Given the description of an element on the screen output the (x, y) to click on. 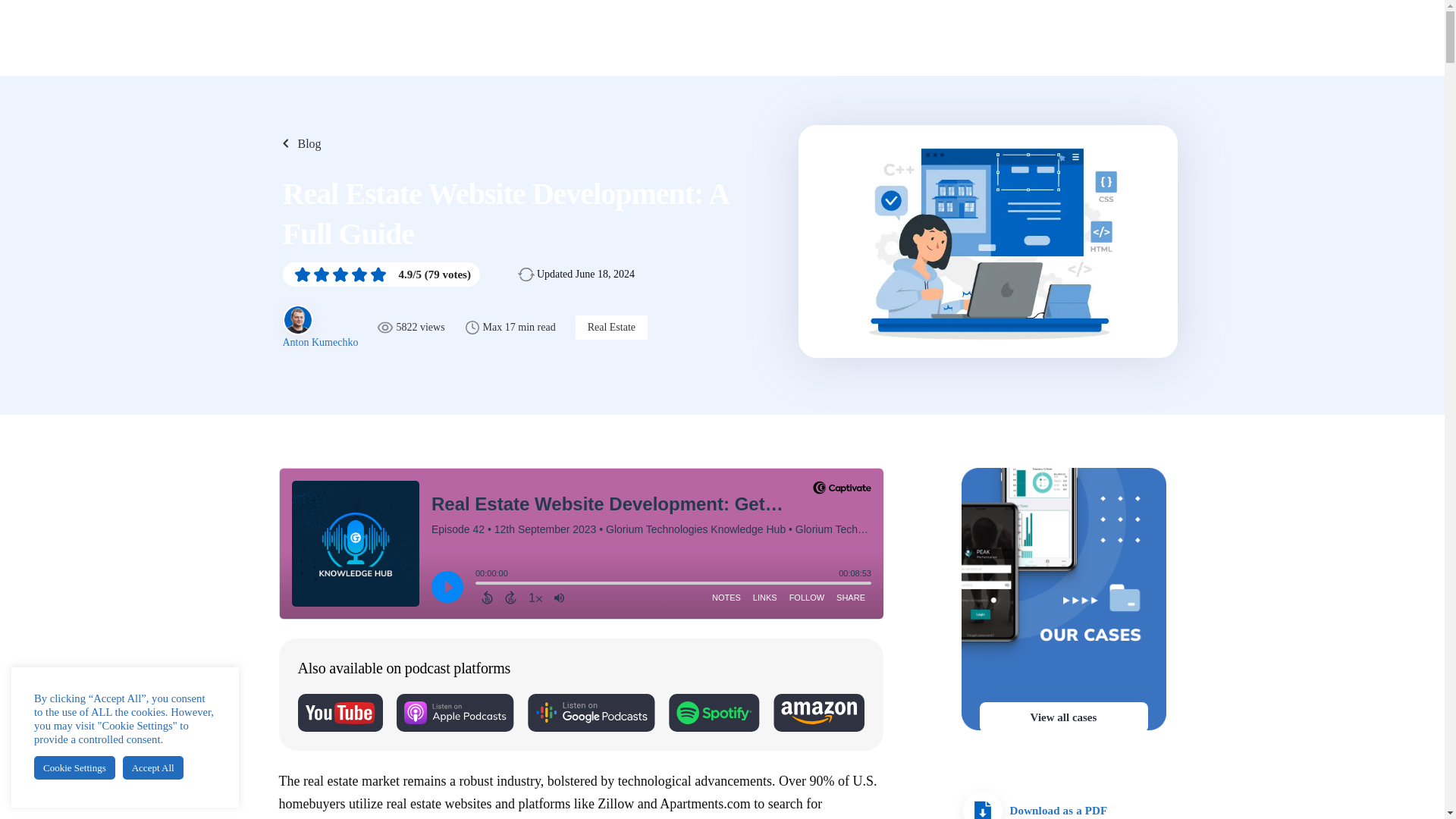
Posts by Anton Kumechko (320, 342)
